Given the description of an element on the screen output the (x, y) to click on. 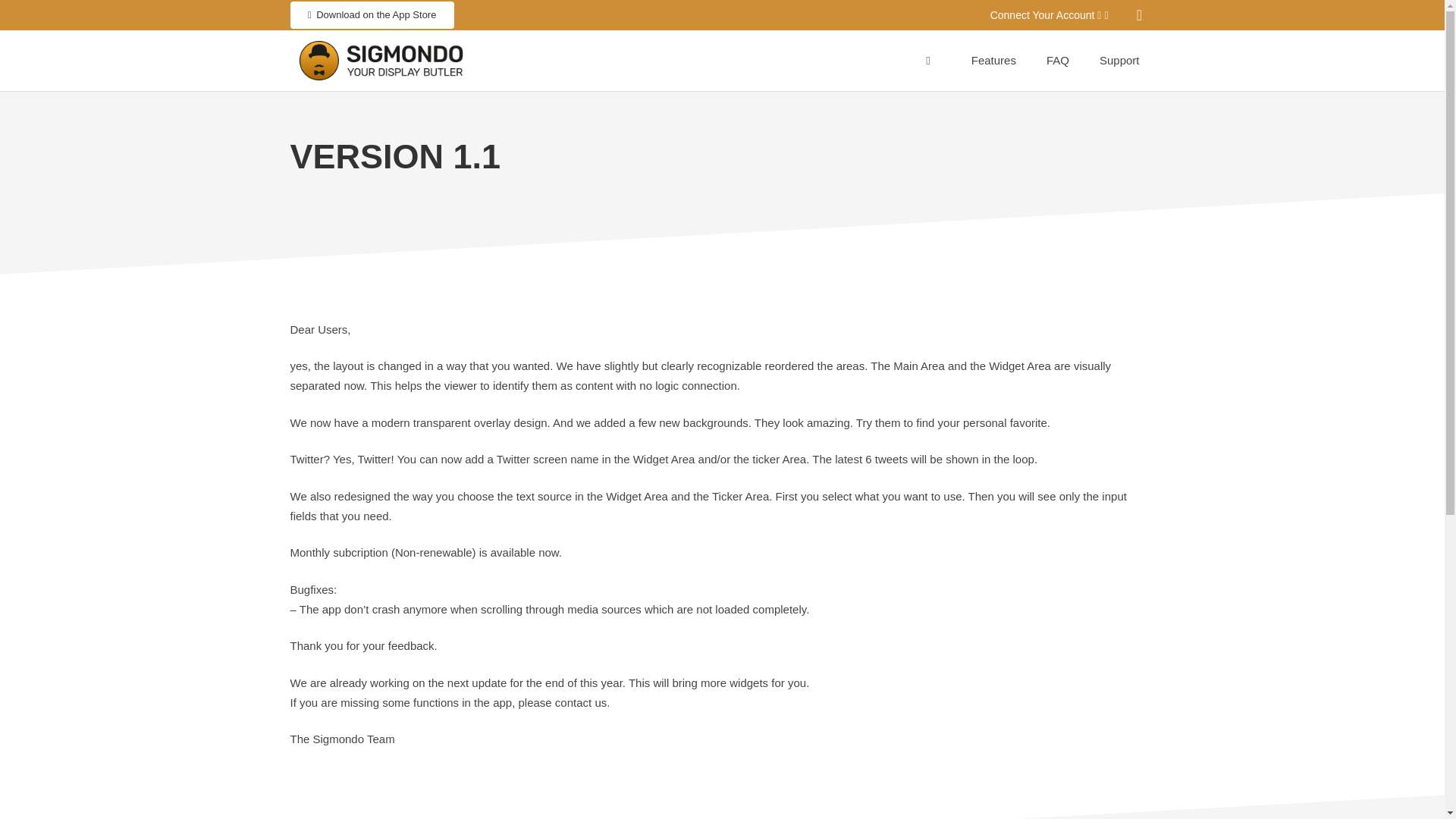
Download on the App Store (370, 14)
Connect your Dropbox or OneDrive account to Sigmondo (1049, 15)
Facebook (1139, 15)
Features (993, 60)
Support (1119, 60)
Connect Your Account (1049, 15)
